Given the description of an element on the screen output the (x, y) to click on. 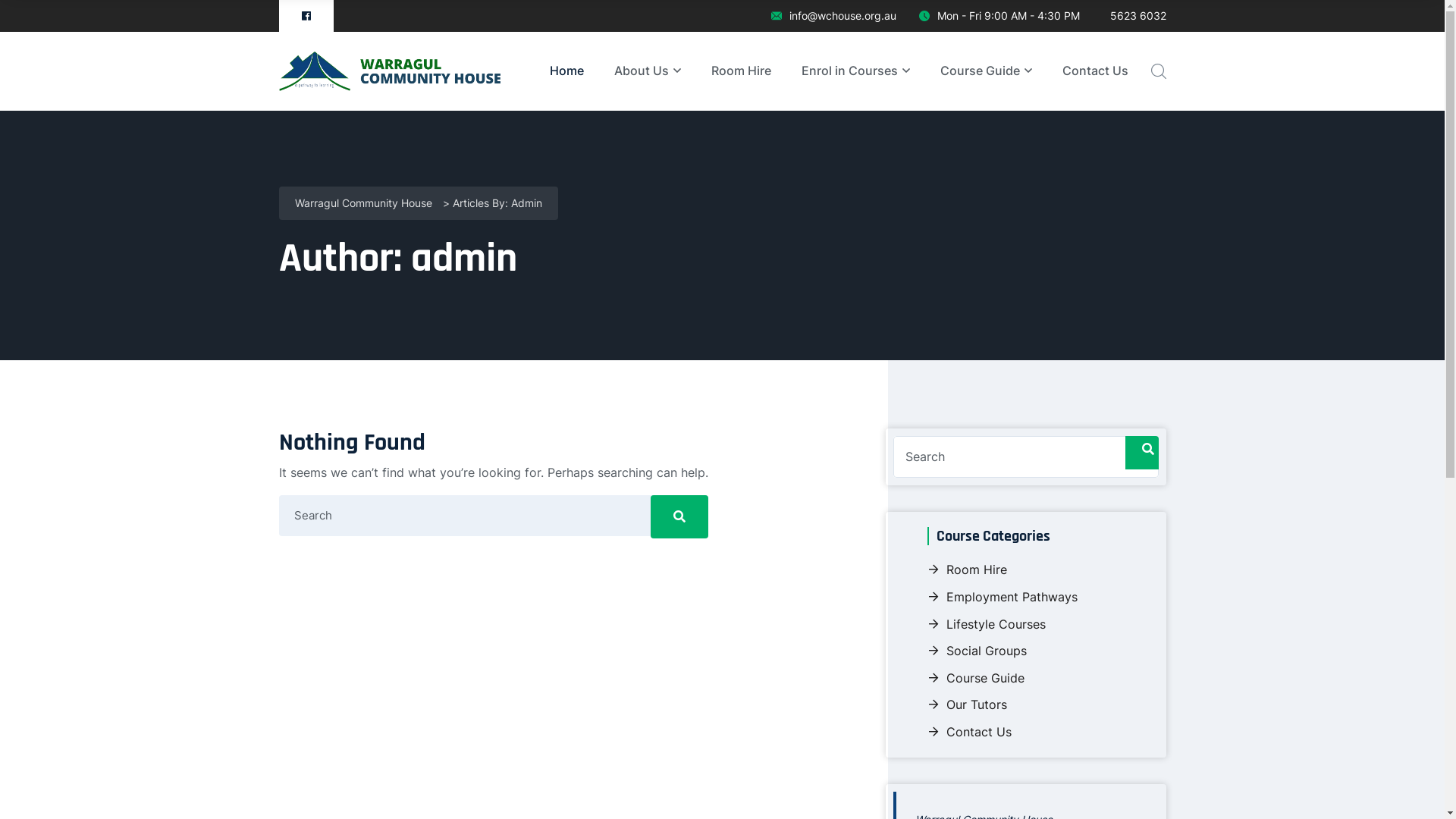
Room Hire Element type: text (741, 71)
info@wchouse.org.au Element type: text (832, 15)
Employment Pathways Element type: text (1001, 596)
5623 6032 Element type: text (1134, 15)
Course Guide Element type: text (986, 71)
Home Element type: text (566, 71)
Our Tutors Element type: text (966, 704)
Warragul Community House Element type: text (362, 203)
Mon - Fri 9:00 AM - 4:30 PM Element type: text (999, 15)
About Us Element type: text (647, 71)
Search for: Element type: hover (493, 515)
Contact Us Element type: text (968, 731)
Social Groups Element type: text (976, 650)
Enrol in Courses Element type: text (854, 71)
Course Guide Element type: text (974, 677)
Contact Us Element type: text (1094, 71)
Search for: Element type: hover (1025, 457)
Lifestyle Courses Element type: text (985, 624)
Room Hire Element type: text (966, 569)
